Given the description of an element on the screen output the (x, y) to click on. 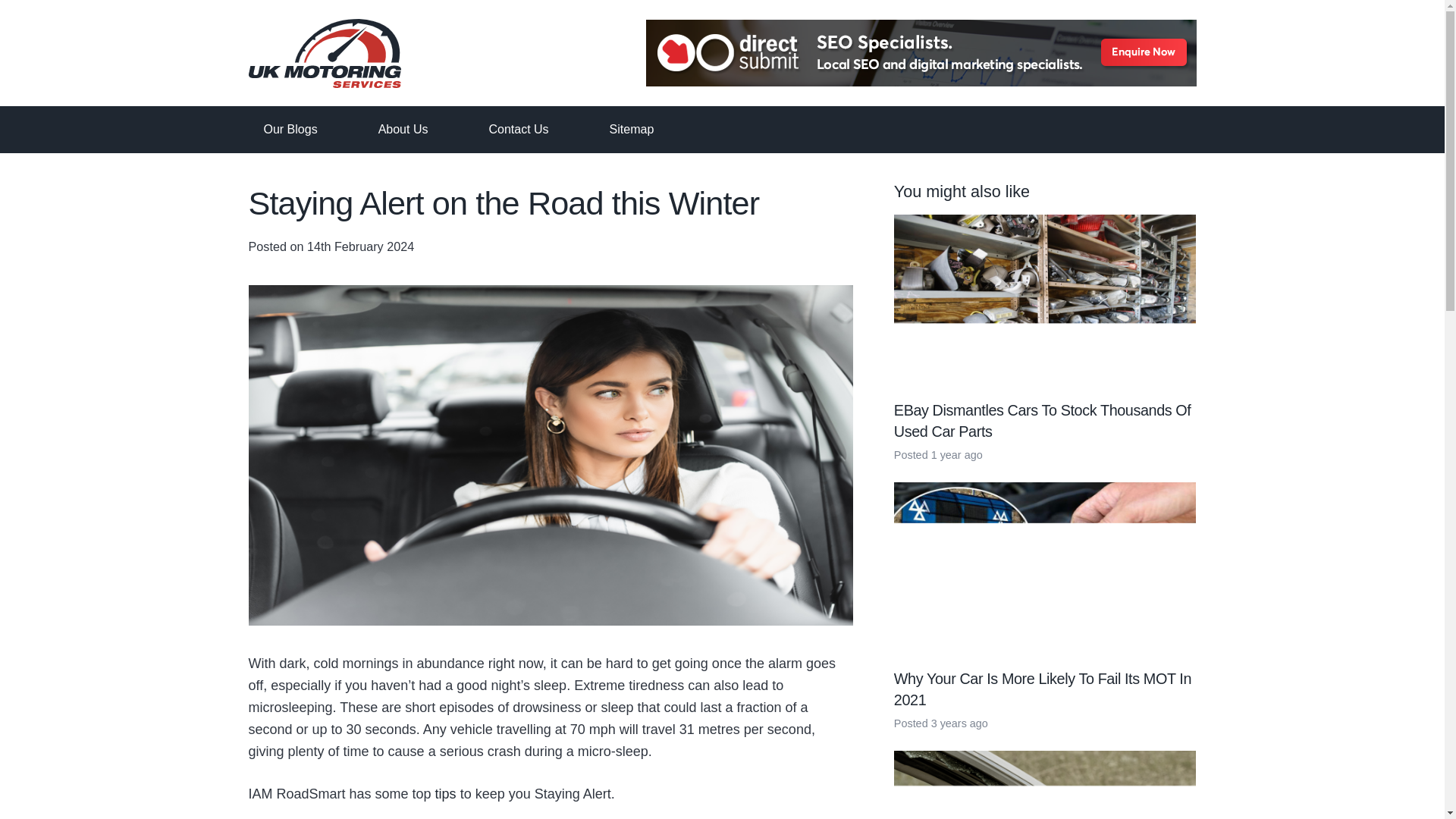
Our Blogs (289, 129)
tips (446, 793)
Why Your Car Is More Likely To Fail Its MOT In 2021 (1042, 689)
EBay Dismantles Cars To Stock Thousands Of Used Car Parts (1042, 420)
Sitemap (631, 129)
About Us (402, 129)
Contact Us (518, 129)
